Given the description of an element on the screen output the (x, y) to click on. 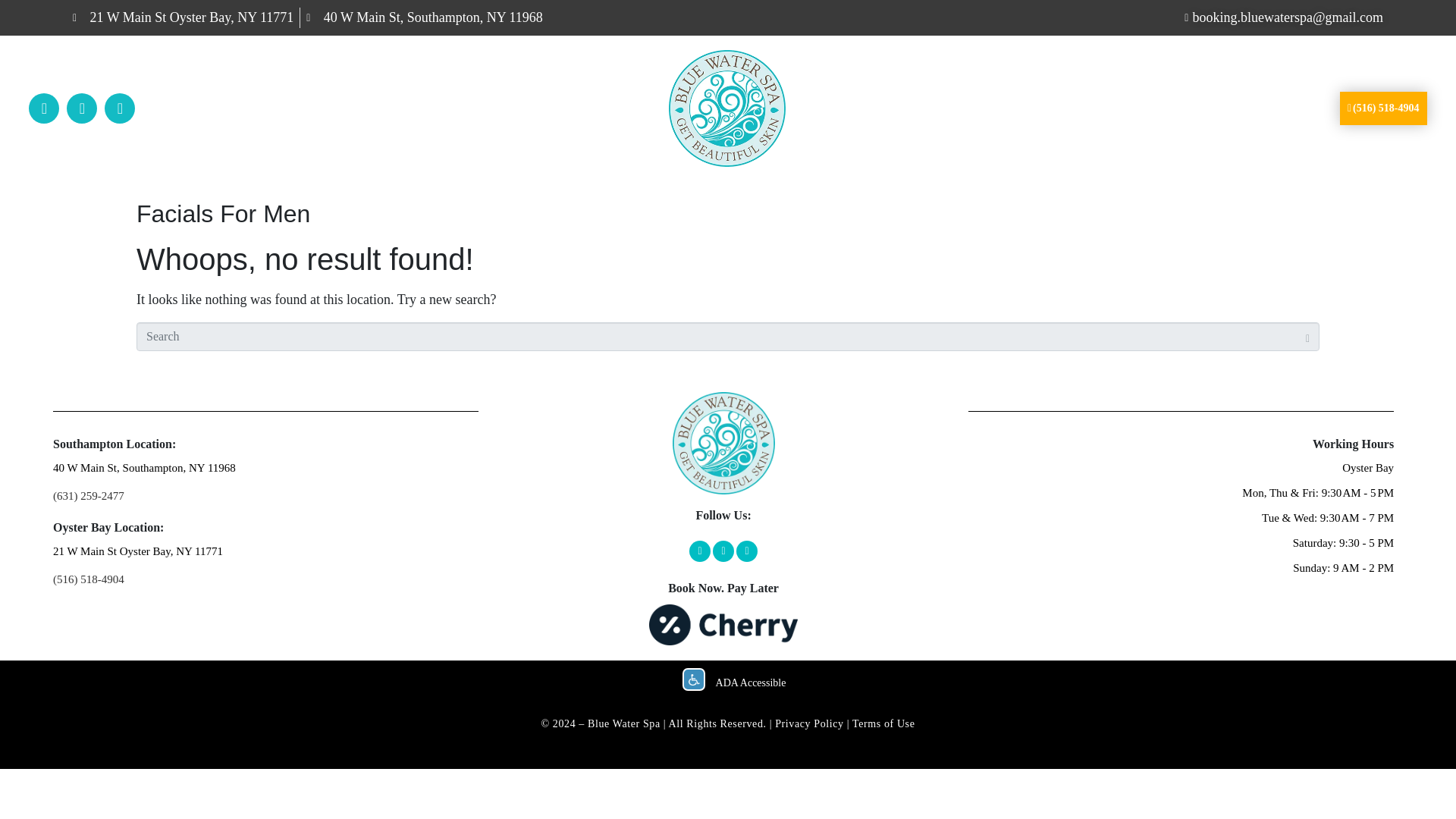
Facials For Men (223, 213)
